Given the description of an element on the screen output the (x, y) to click on. 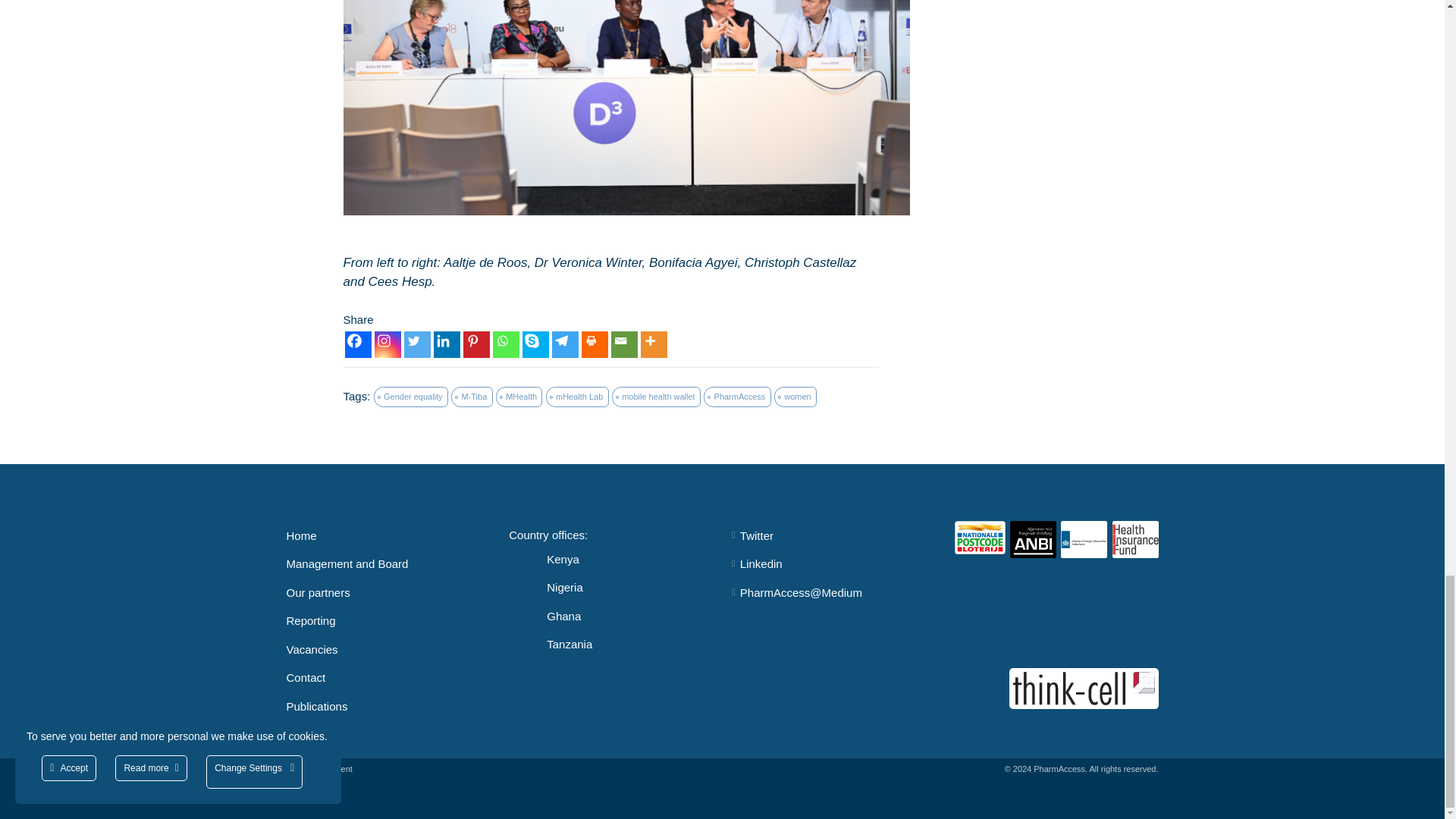
Linkedin (446, 344)
Twitter (416, 344)
Skype (534, 344)
Telegram (564, 344)
Instagram (387, 344)
Pinterest (476, 344)
Email (624, 344)
Print (593, 344)
More (653, 344)
Whatsapp (506, 344)
